Given the description of an element on the screen output the (x, y) to click on. 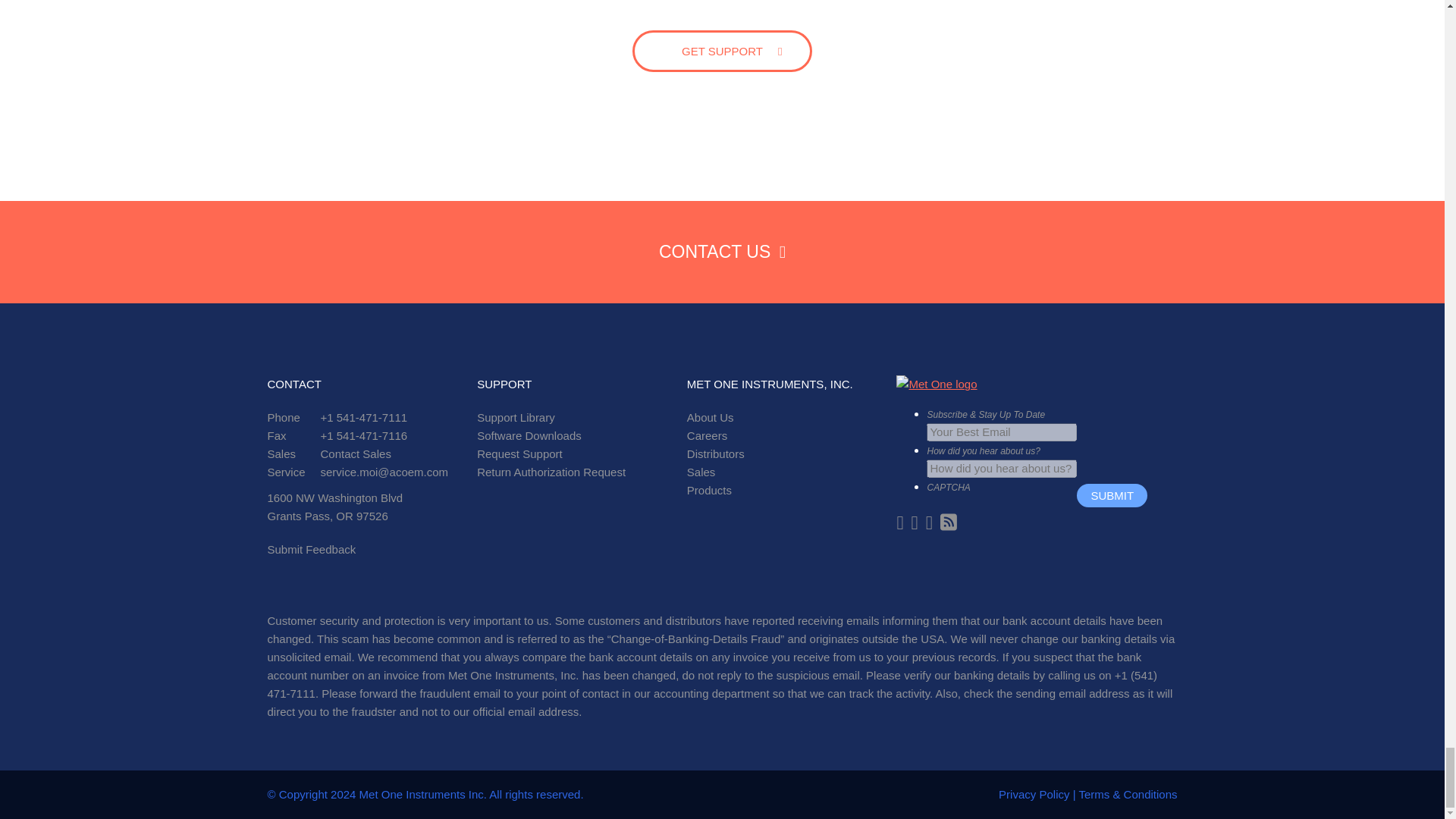
Submit (1112, 495)
